Given the description of an element on the screen output the (x, y) to click on. 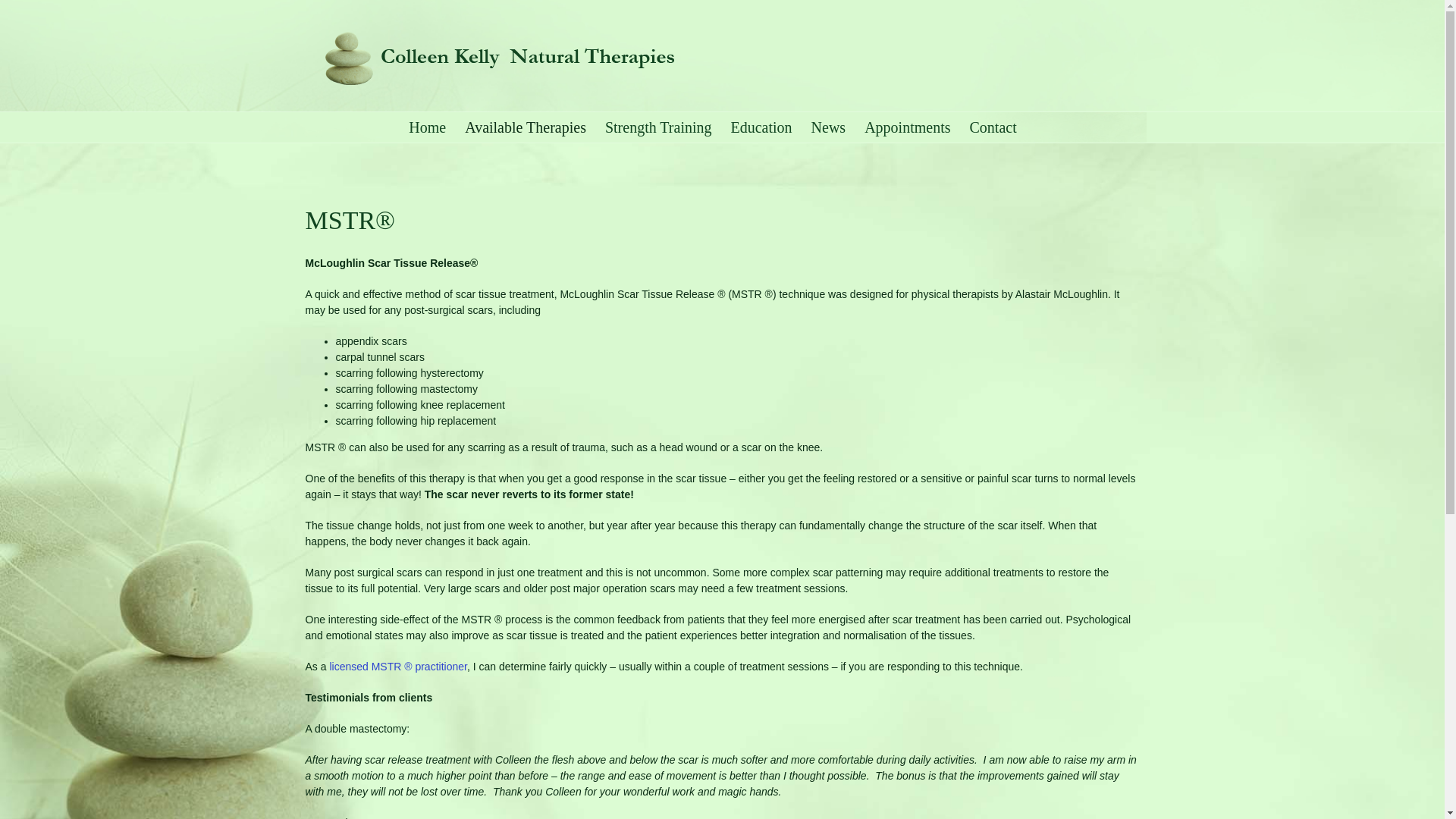
Available Therapies Element type: text (525, 127)
Appointments Element type: text (907, 127)
Home Element type: text (426, 127)
News Element type: text (828, 127)
Contact Element type: text (992, 127)
Education Element type: text (761, 127)
Strength Training Element type: text (658, 127)
